Given the description of an element on the screen output the (x, y) to click on. 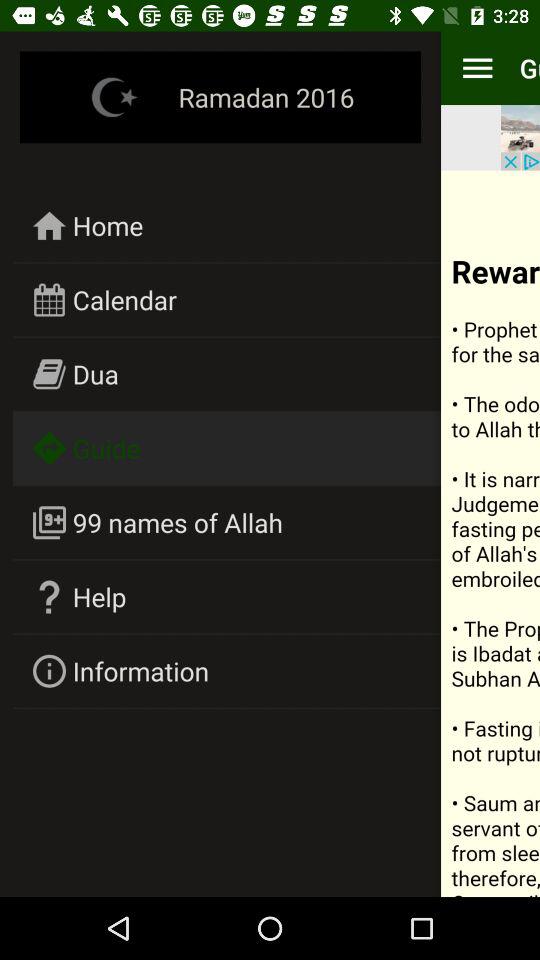
toggle menu (477, 68)
